Given the description of an element on the screen output the (x, y) to click on. 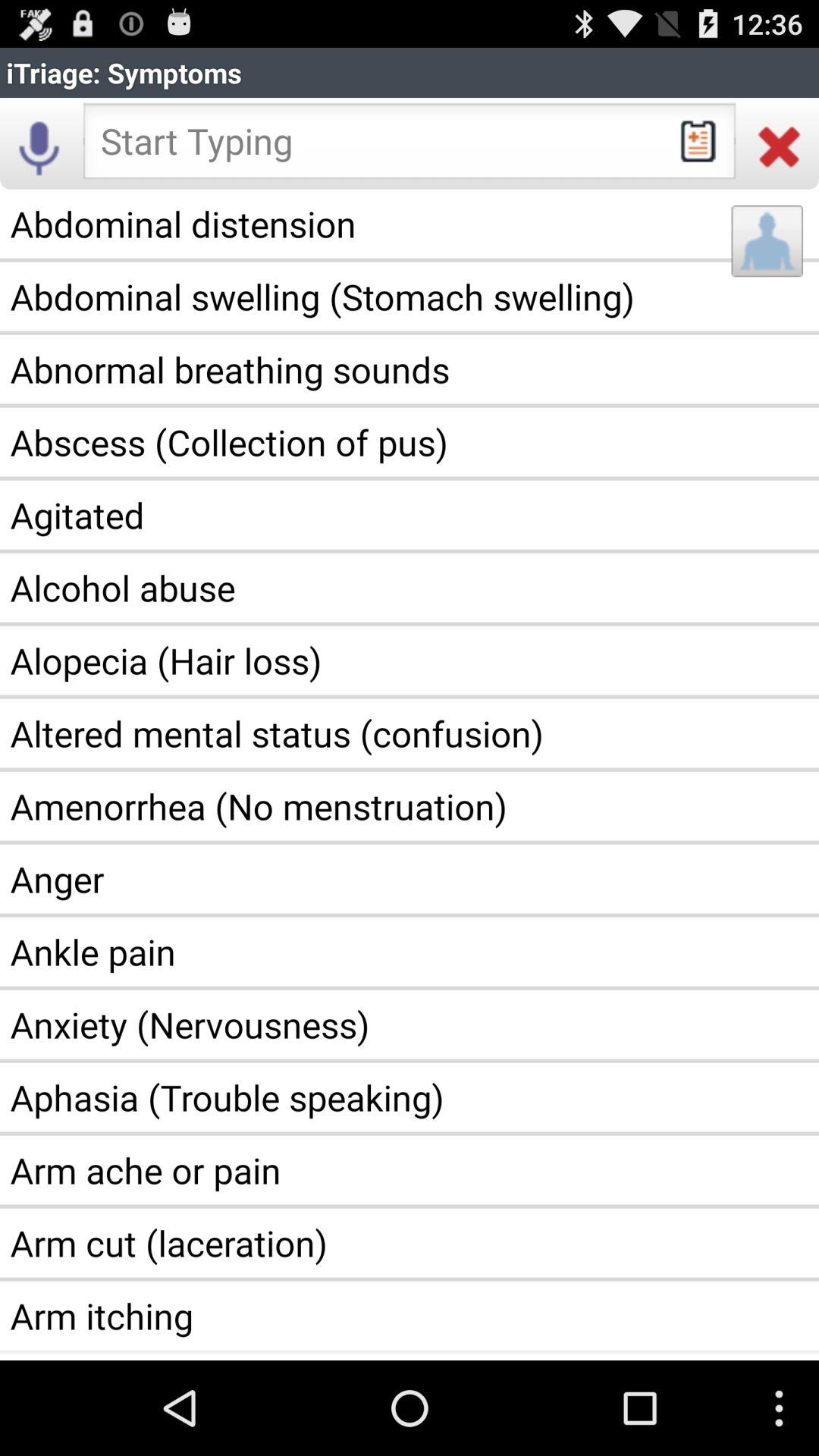
type symptoms (409, 145)
